Given the description of an element on the screen output the (x, y) to click on. 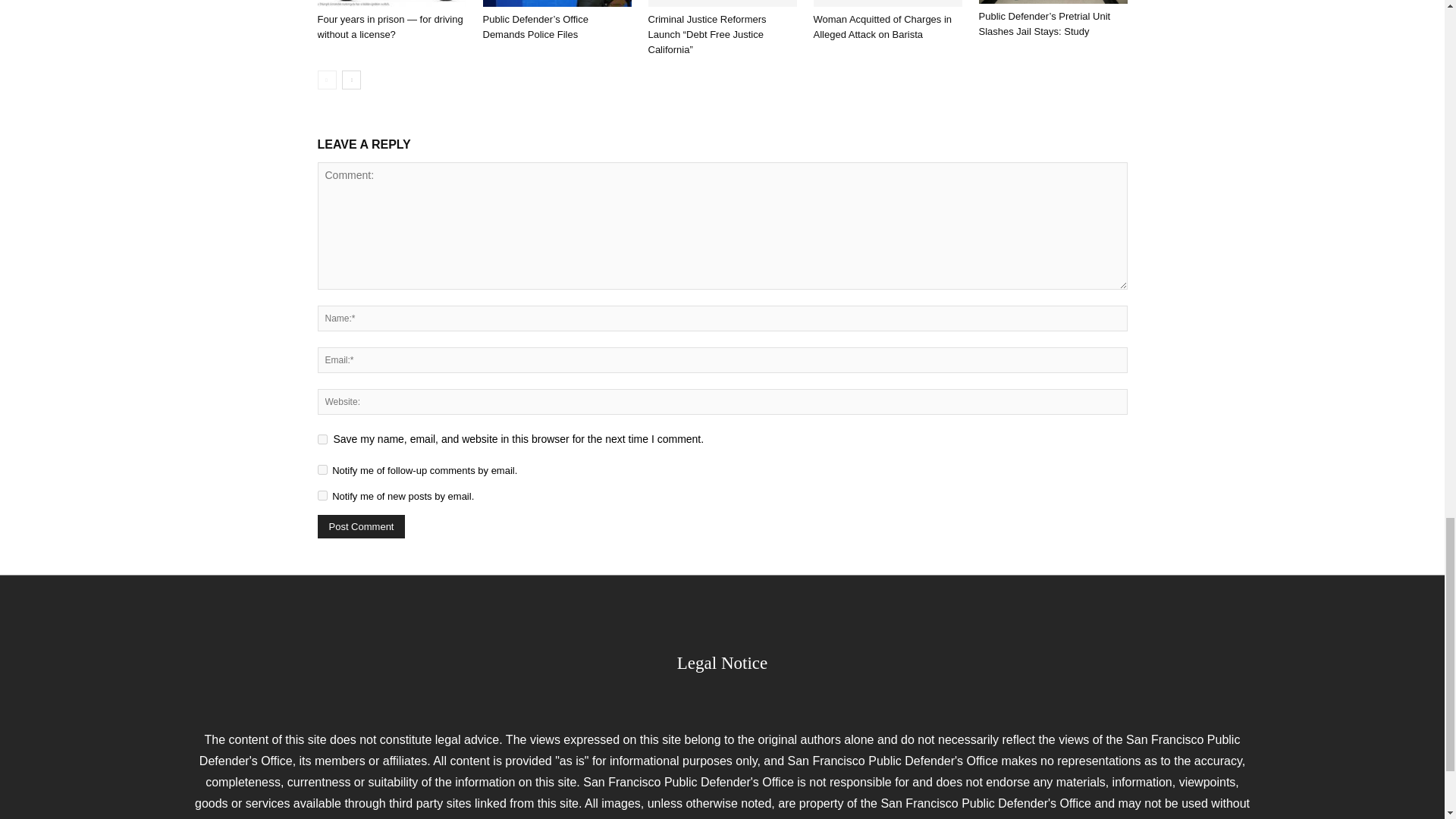
yes (321, 439)
subscribe (321, 495)
subscribe (321, 470)
Post Comment (360, 526)
